Given the description of an element on the screen output the (x, y) to click on. 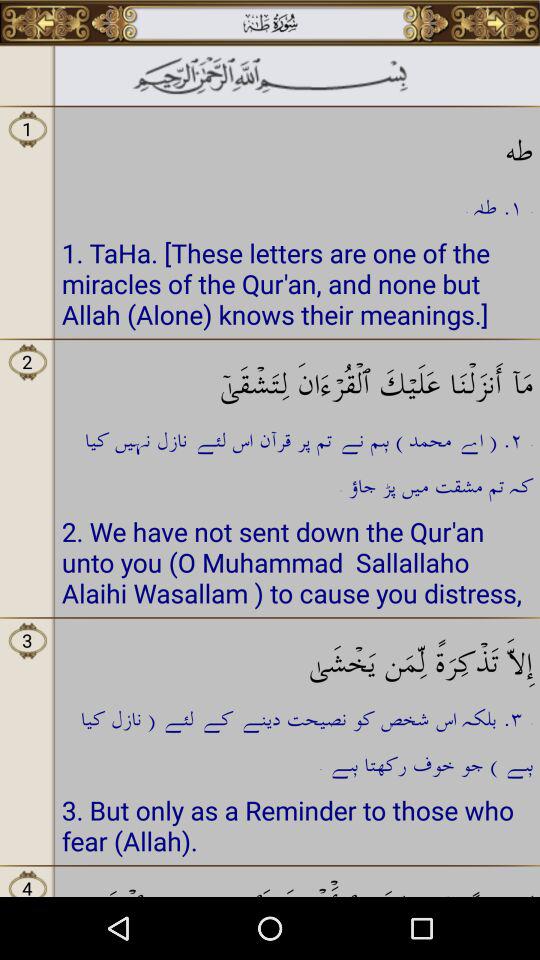
back button (45, 23)
